Given the description of an element on the screen output the (x, y) to click on. 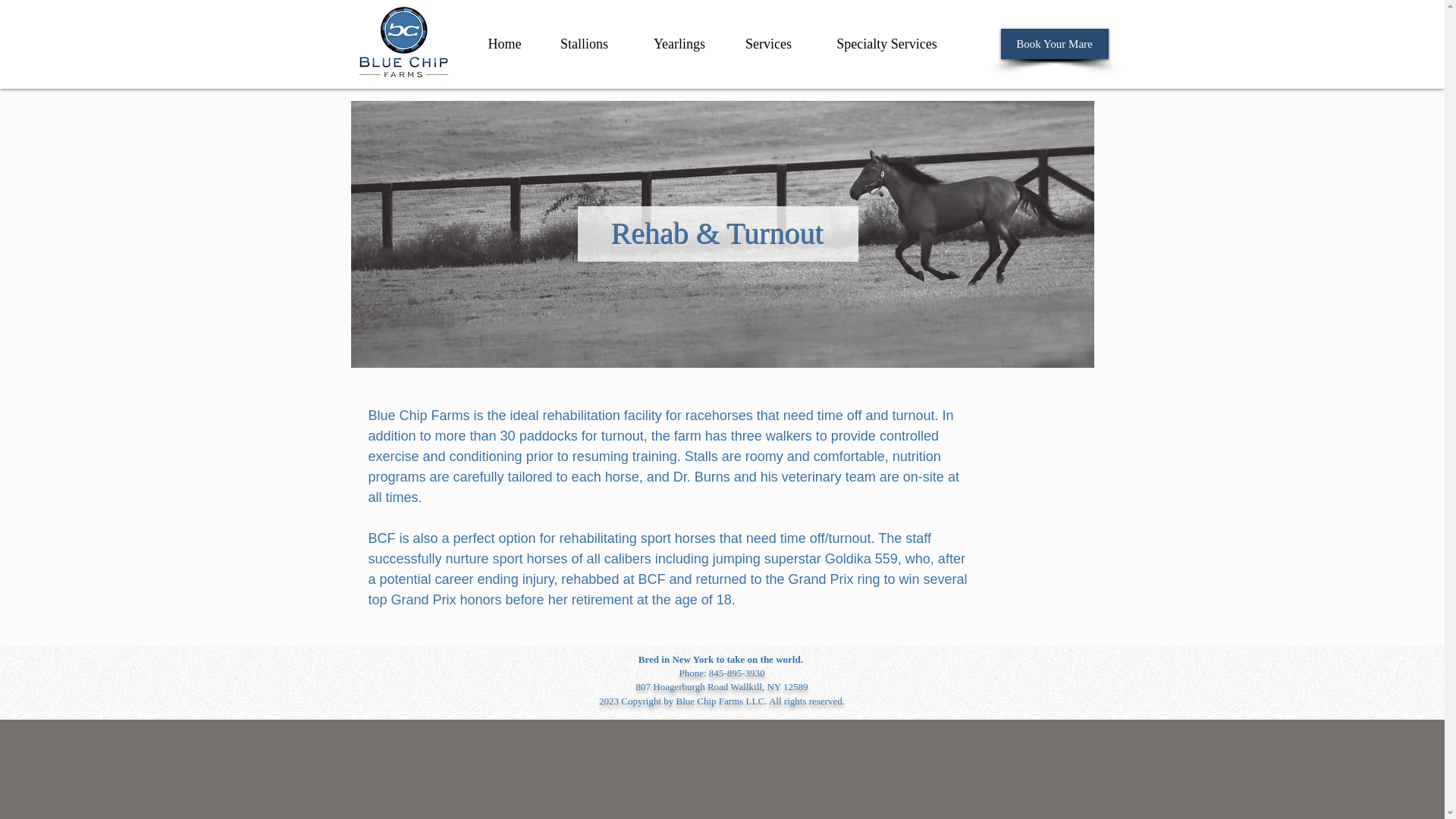
Stallions (583, 43)
Yearlings (678, 43)
Home (504, 43)
Services (768, 43)
Book Your Mare (1054, 43)
